Given the description of an element on the screen output the (x, y) to click on. 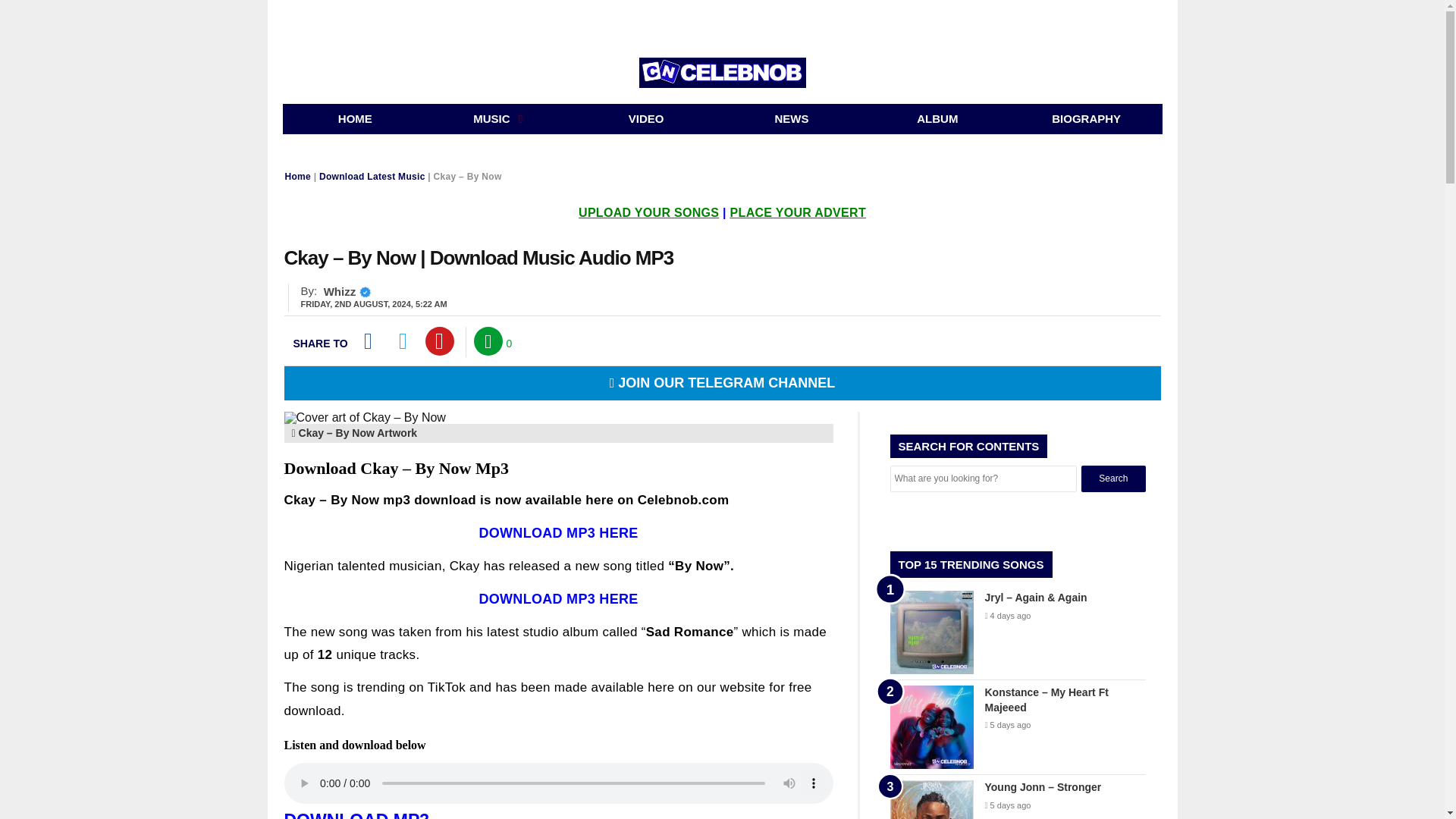
News (791, 119)
Twitter (402, 340)
UPLOAD YOUR SONGS (648, 212)
DOWNLOAD MP3 HERE (558, 532)
Download Latest Music (371, 176)
Home (355, 119)
NEWS (791, 119)
DOWNLOAD MP3 (356, 814)
Whizz (339, 291)
DOWNLOAD MP3 HERE (558, 598)
Posts by Whizz (339, 291)
Videos (646, 119)
Music (500, 119)
Comments (488, 340)
